Given the description of an element on the screen output the (x, y) to click on. 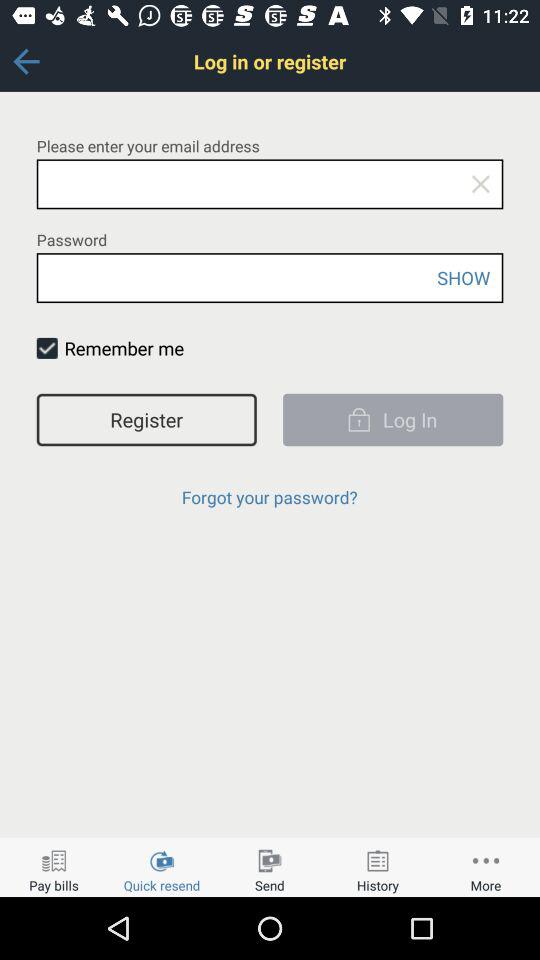
selection remember (46, 348)
